Given the description of an element on the screen output the (x, y) to click on. 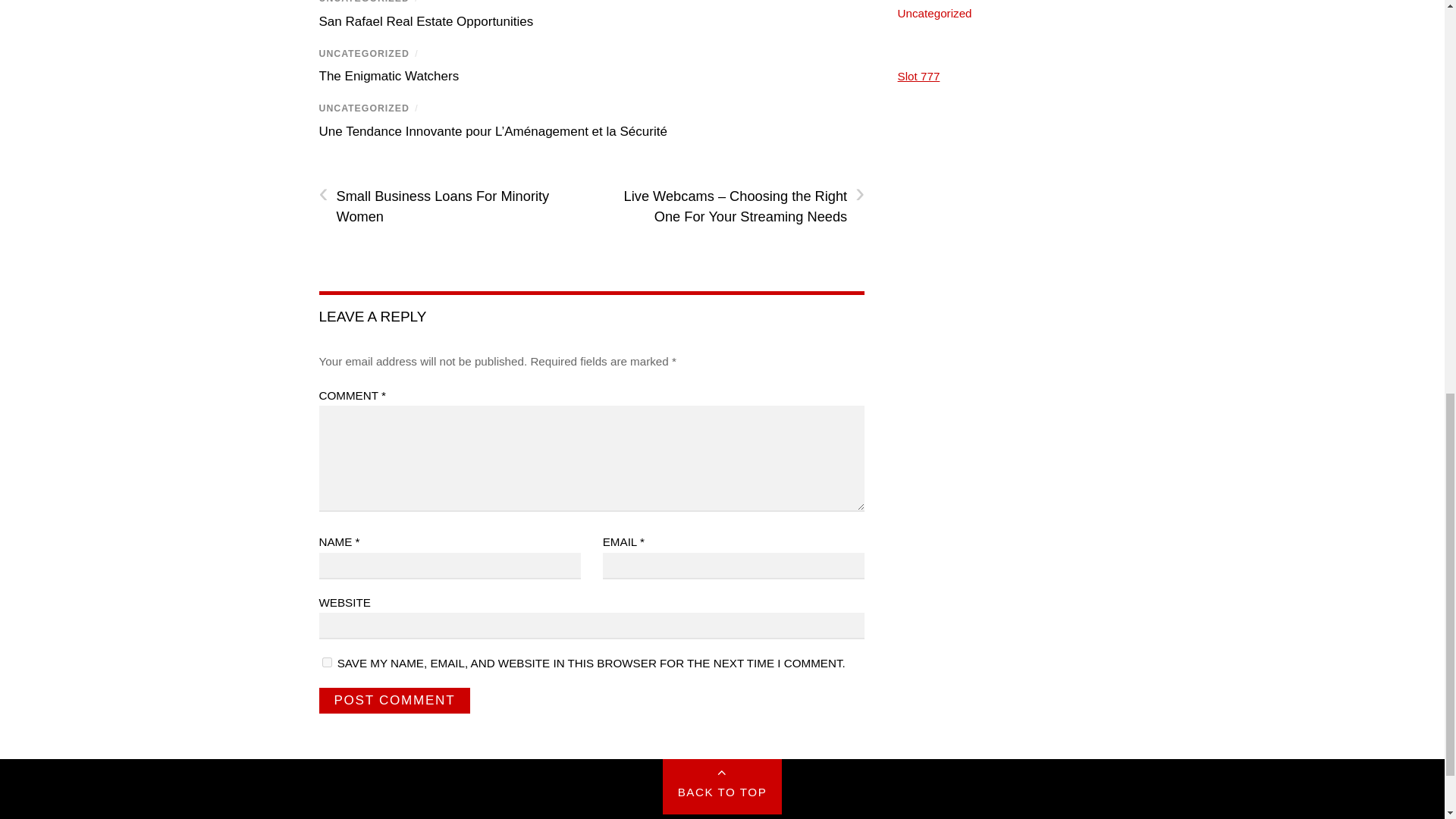
Slot 777 (919, 75)
San Rafael Real Estate Opportunities (425, 21)
UNCATEGORIZED (363, 108)
San Rafael Real Estate Opportunities (425, 21)
BACK TO TOP (722, 786)
Post Comment (394, 700)
The Enigmatic Watchers (388, 75)
yes (326, 662)
Uncategorized (935, 12)
UNCATEGORIZED (363, 53)
UNCATEGORIZED (363, 2)
The Enigmatic Watchers (388, 75)
Post Comment (394, 700)
